Given the description of an element on the screen output the (x, y) to click on. 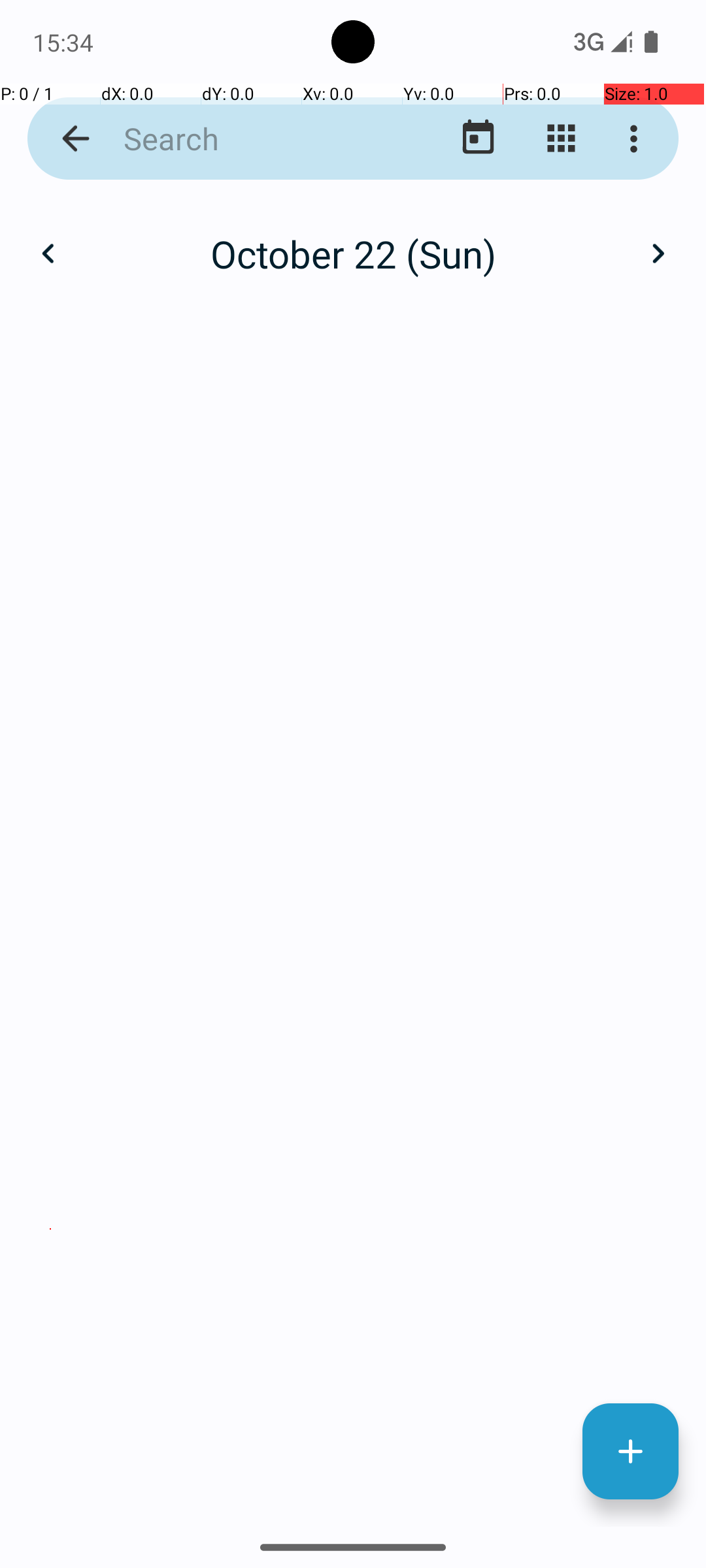
October 22 (Sun) Element type: android.widget.TextView (352, 253)
